Given the description of an element on the screen output the (x, y) to click on. 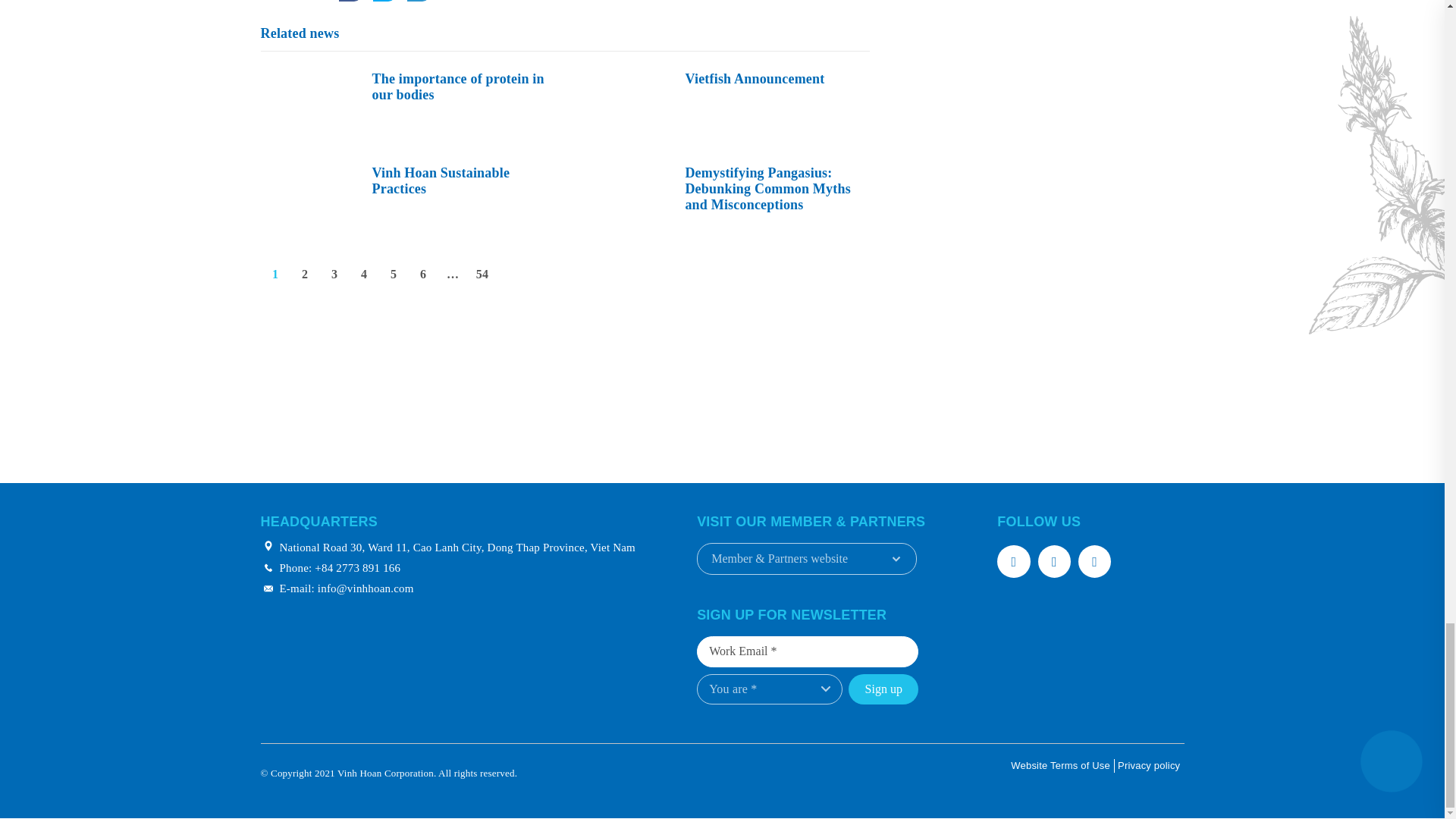
Vinh Hoan Sustainable Practices (408, 199)
Vinh Hoan Sustainable Practices 8 (308, 199)
The importance of protein in our bodies (408, 105)
Vietfish Announcement (721, 105)
Vietfish Announcement 7 (621, 105)
The importance of protein in our bodies 6 (308, 105)
